Given the description of an element on the screen output the (x, y) to click on. 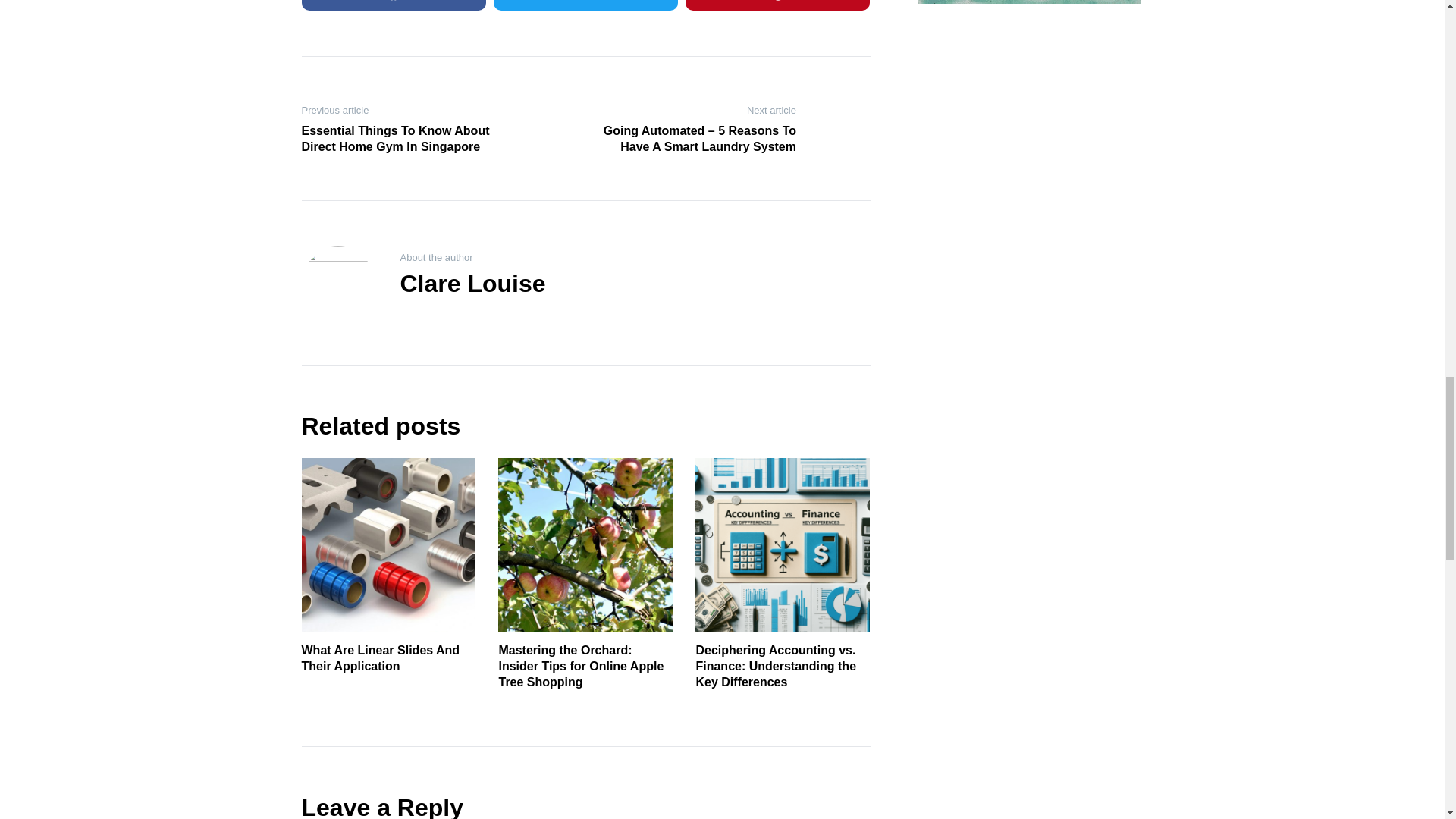
What Are Linear Slides And Their Application (380, 657)
Essential Things To Know About Direct Home Gym In Singapore (400, 139)
Clare Louise (473, 283)
